Given the description of an element on the screen output the (x, y) to click on. 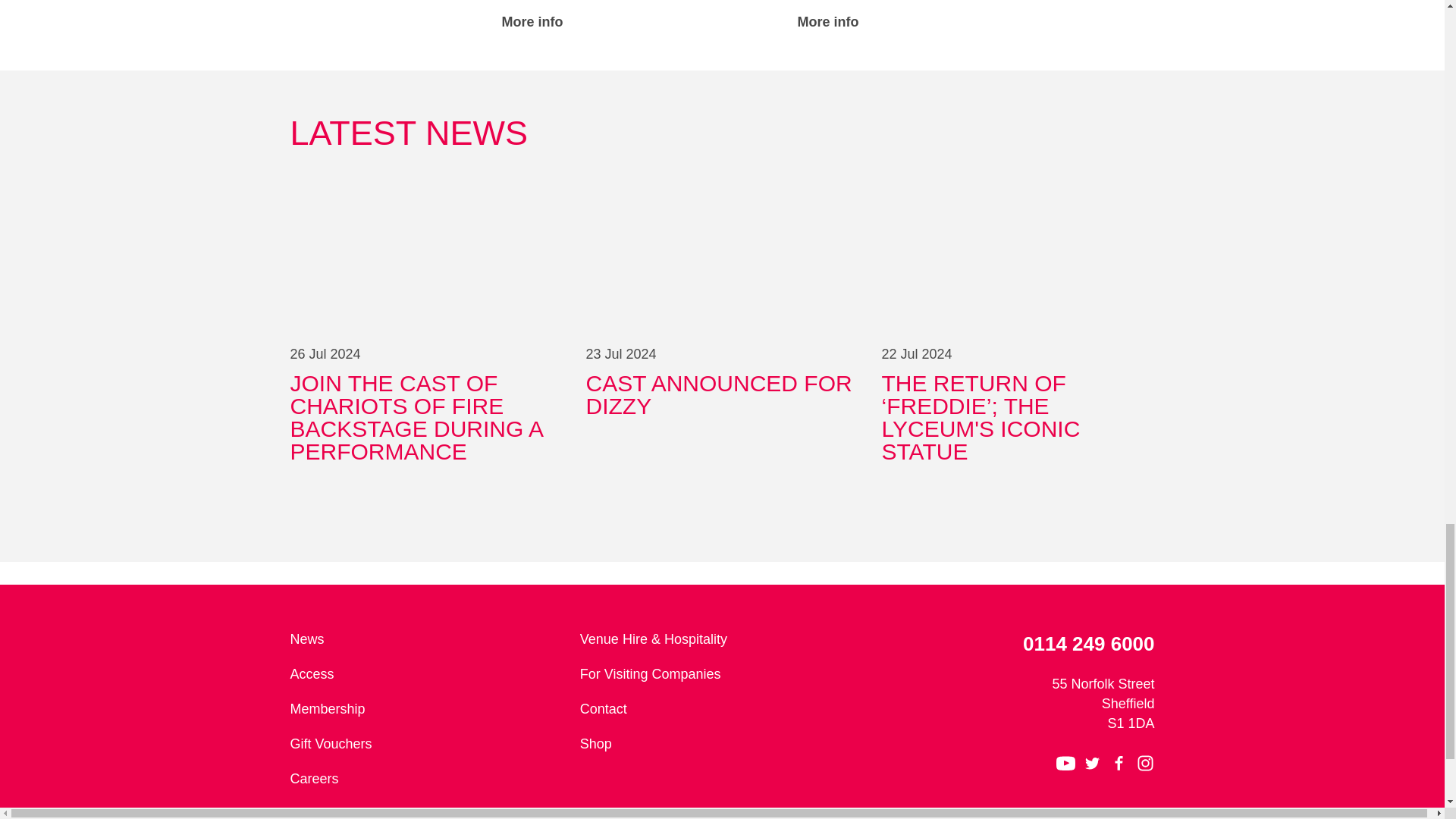
News (427, 639)
Access (427, 674)
Shop (717, 744)
For Visiting Companies (717, 674)
Gift Vouchers (427, 744)
LATEST NEWS (721, 132)
0114 249 6000 (1012, 644)
Youtube (425, 16)
Careers (1064, 762)
Contact (427, 779)
Twitter (722, 325)
